Given the description of an element on the screen output the (x, y) to click on. 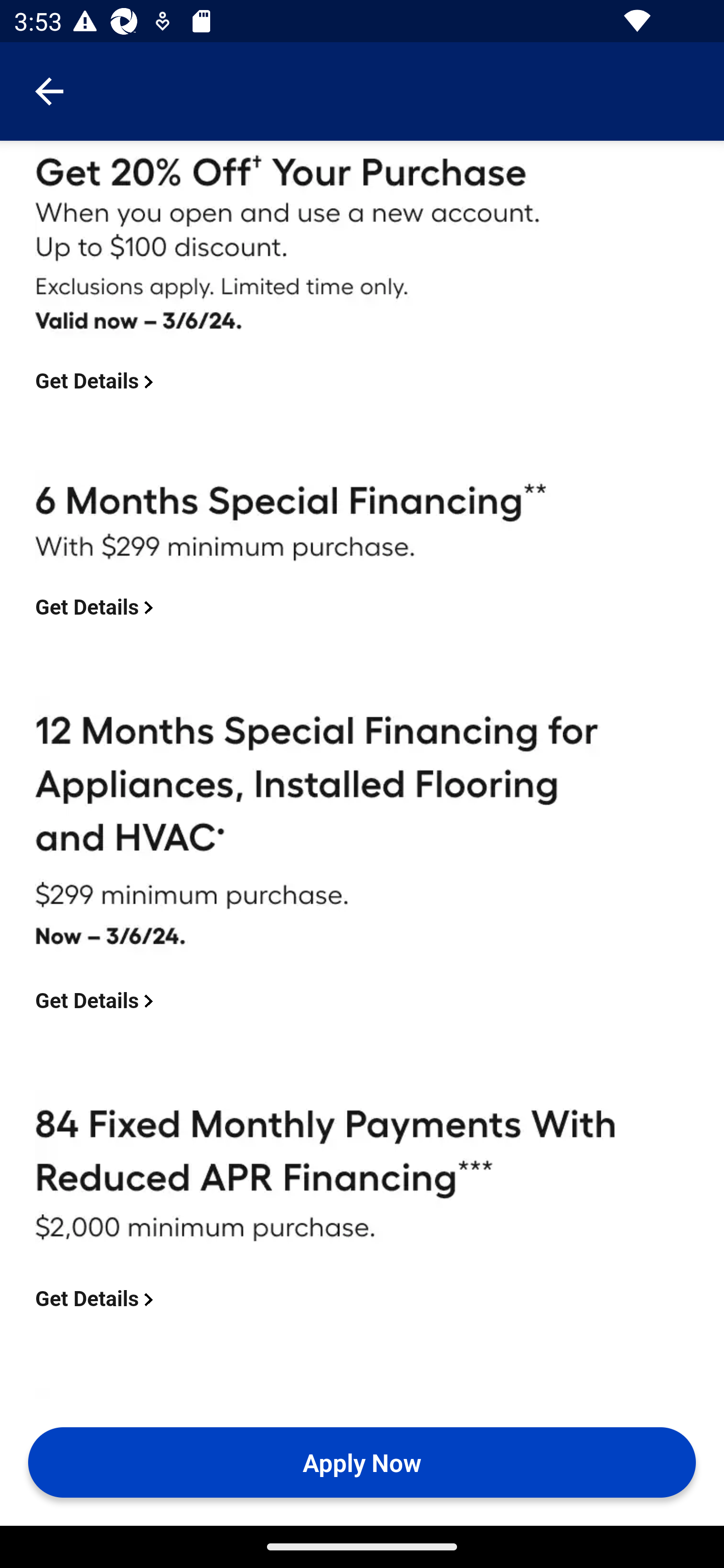
Navigate up (49, 91)
Get Details (97, 382)
Get Details (97, 607)
Get Details (97, 1000)
Get Details (97, 1300)
Apply Now (361, 1462)
title (628, 1527)
